Given the description of an element on the screen output the (x, y) to click on. 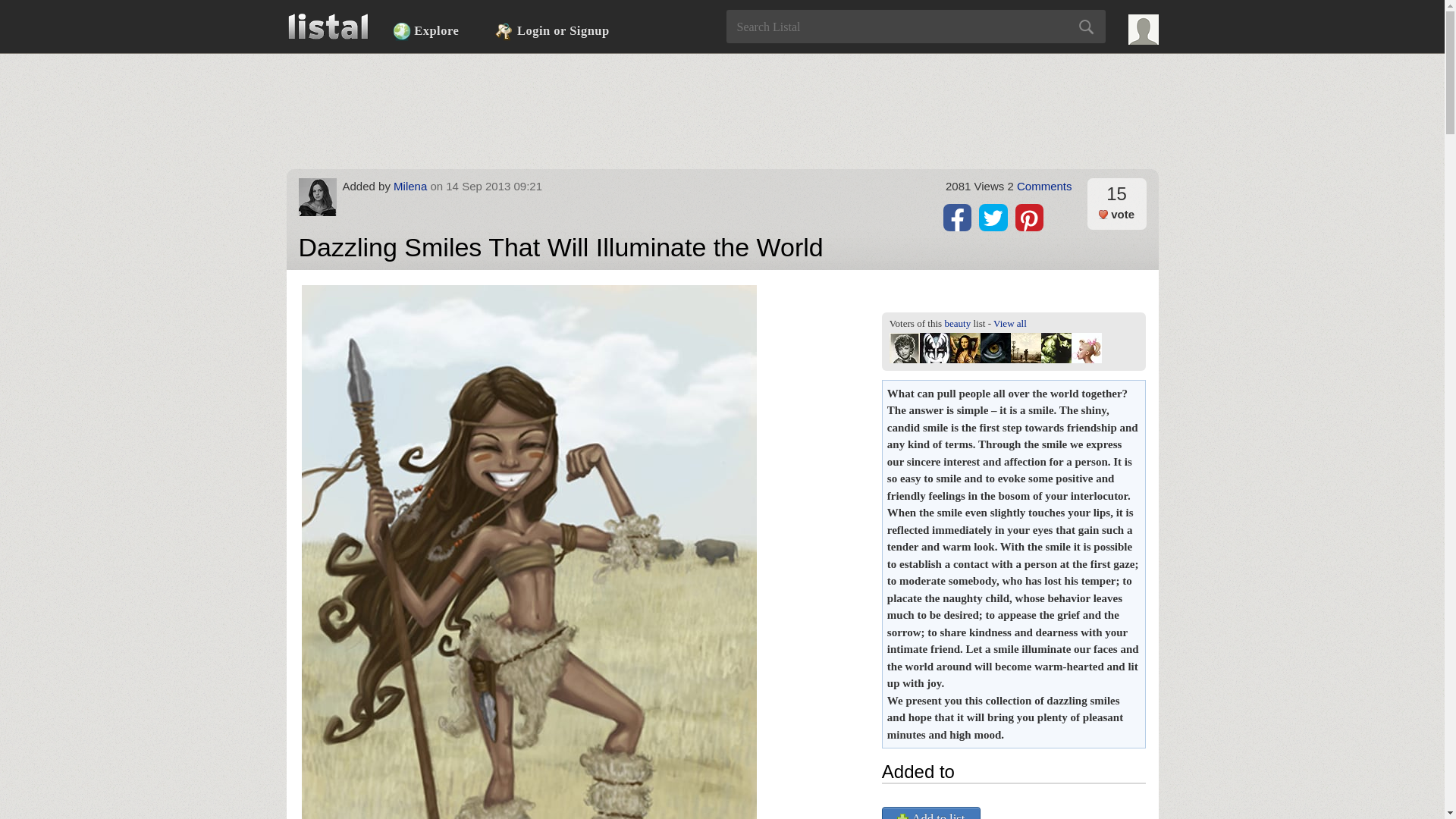
vixen (964, 347)
Dark Warrior  (1025, 347)
Avatar (317, 197)
michealoh (904, 347)
Antares (994, 347)
motc (1056, 347)
Avatar (1143, 29)
Battleax (935, 347)
Explore (425, 31)
iknowthat (1086, 347)
